Given the description of an element on the screen output the (x, y) to click on. 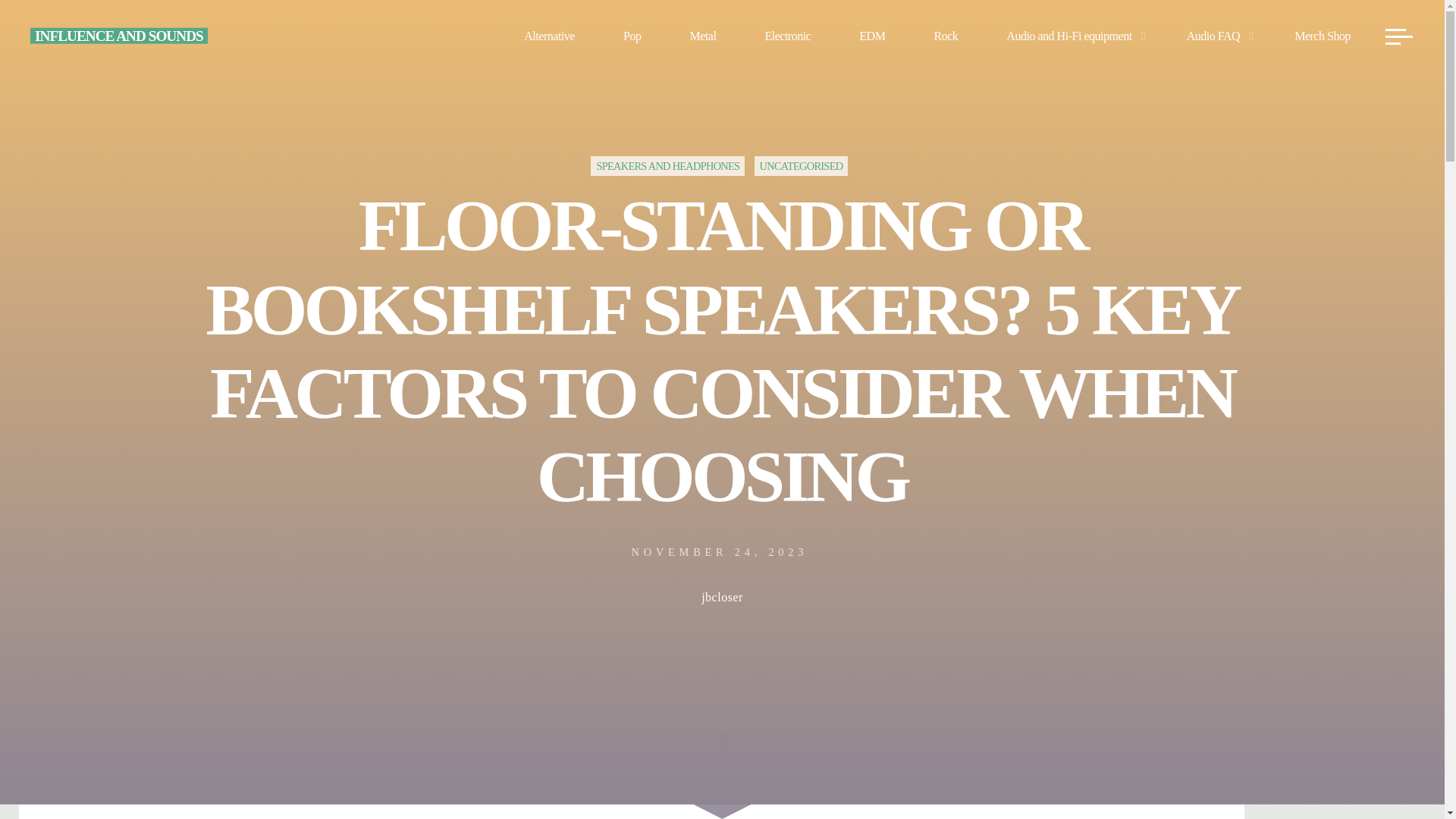
Electronic (786, 35)
Alternative (548, 35)
View all posts by jbcloser (721, 598)
Pop (631, 35)
EDM (871, 35)
Metal (702, 35)
Rock (944, 35)
Audio and Hi-Fi equipment (1071, 35)
Tunes That Shaped Generations (119, 35)
Read more (721, 724)
INFLUENCE AND SOUNDS (119, 35)
